Given the description of an element on the screen output the (x, y) to click on. 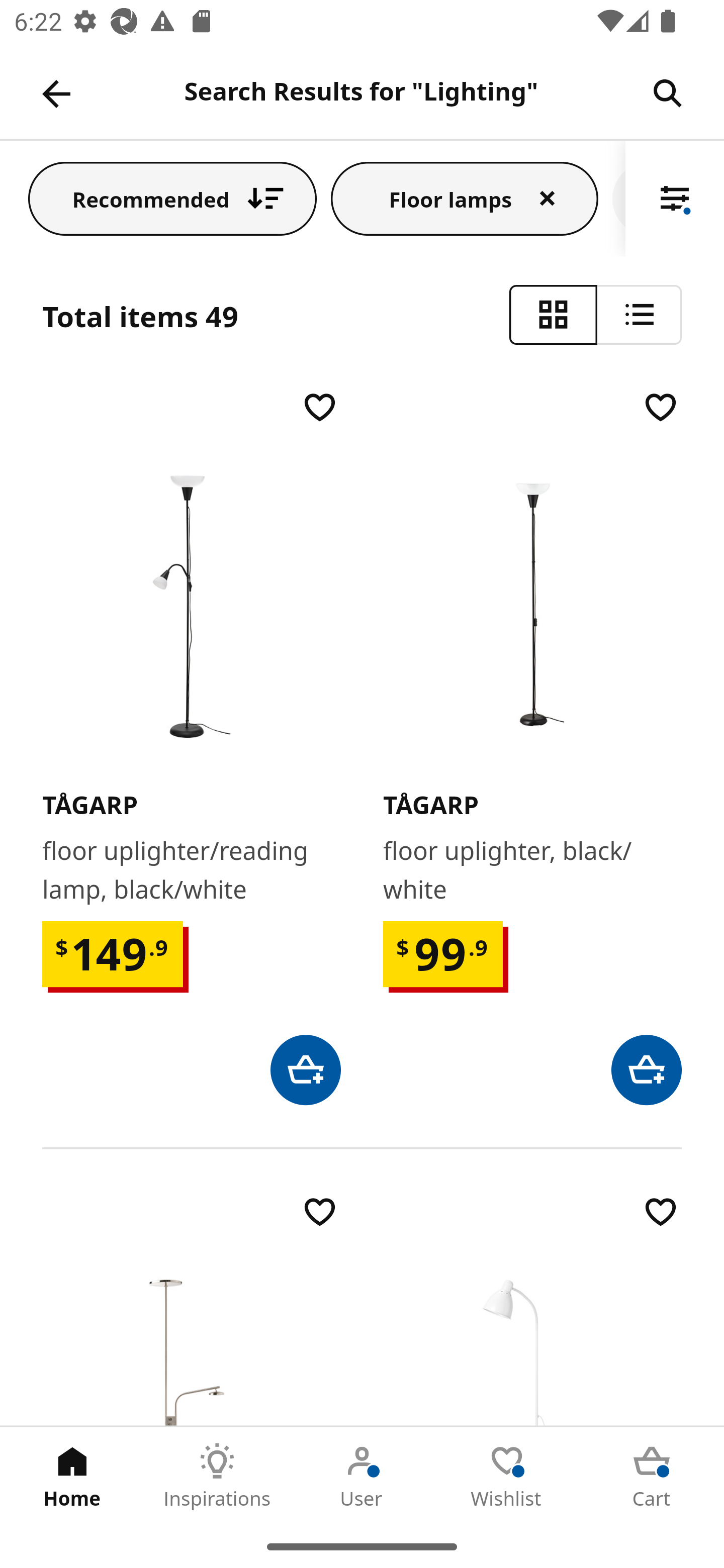
Recommended (172, 198)
Floor lamps (464, 198)
​T​Å​G​A​R​P​
floor uplighter, black/white
$
99
.9 (532, 746)
​L​E​R​S​T​A​
floor/reading lamp, white
$
149
.9 (532, 1308)
Home
Tab 1 of 5 (72, 1476)
Inspirations
Tab 2 of 5 (216, 1476)
User
Tab 3 of 5 (361, 1476)
Wishlist
Tab 4 of 5 (506, 1476)
Cart
Tab 5 of 5 (651, 1476)
